Given the description of an element on the screen output the (x, y) to click on. 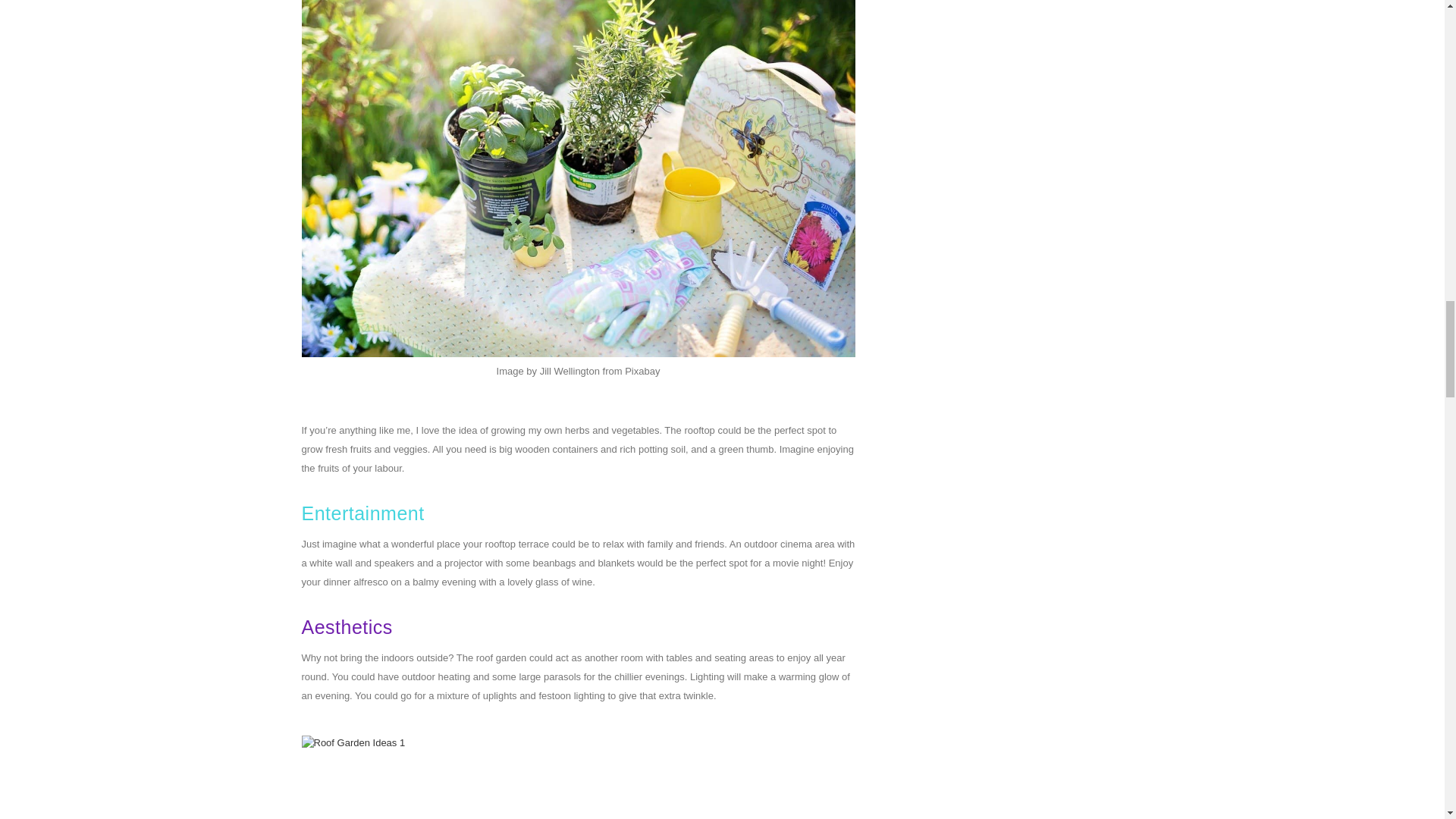
Roof Garden Ideas 1 (578, 777)
